Given the description of an element on the screen output the (x, y) to click on. 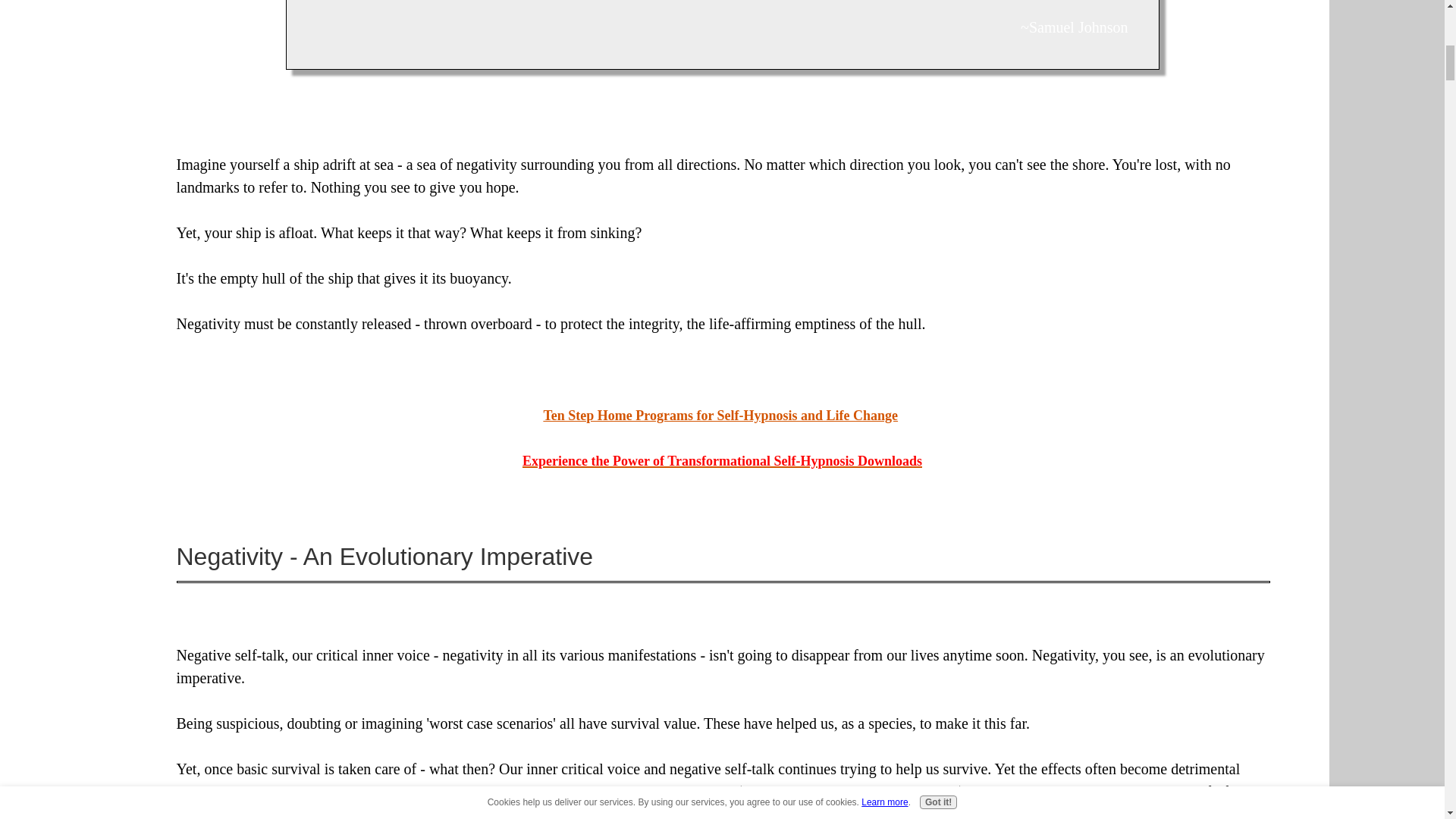
Ten Step Home Programs for Self-Hypnosis and Life Change (720, 415)
catastrophizing (912, 791)
